Given the description of an element on the screen output the (x, y) to click on. 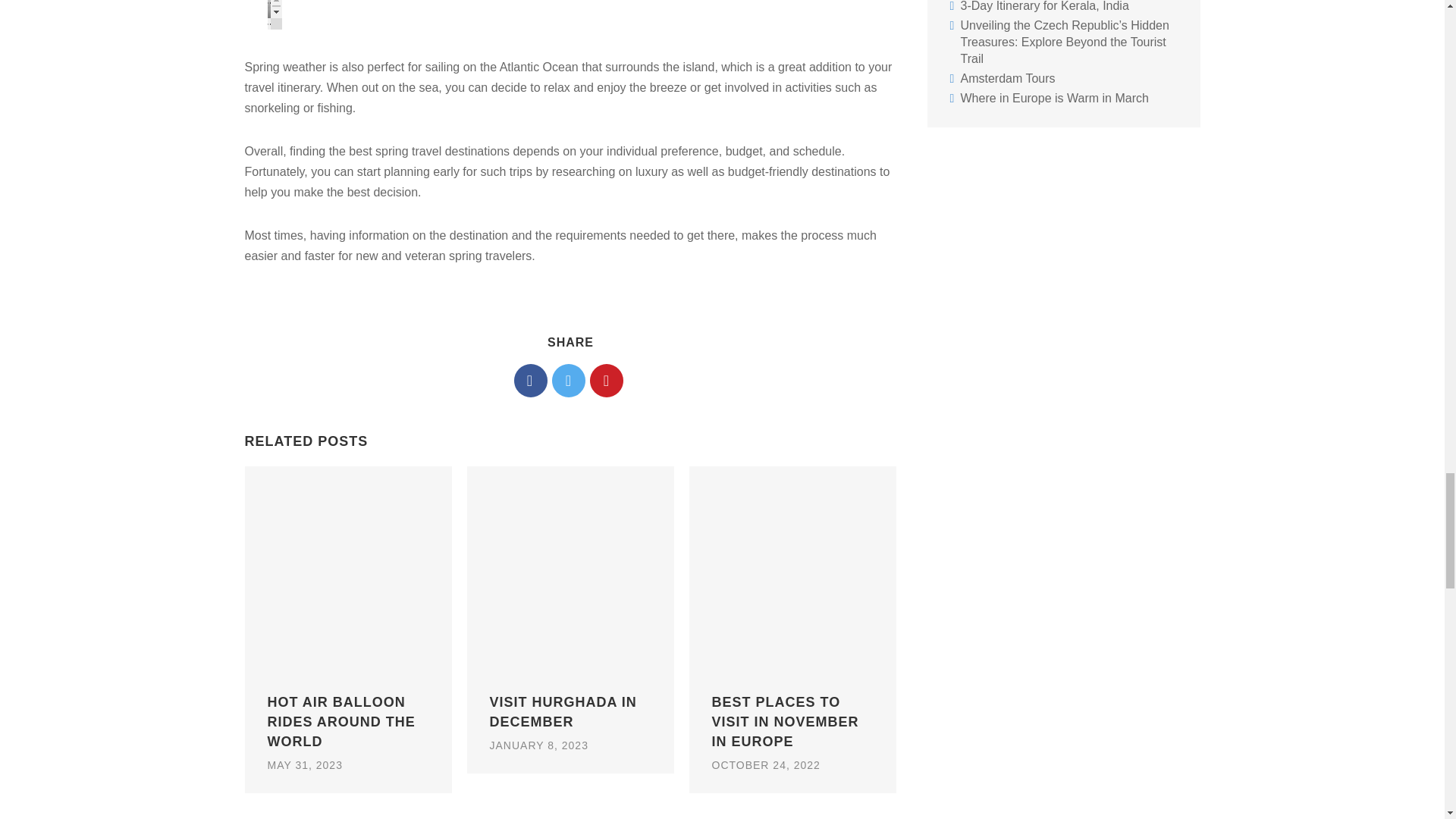
Share (530, 380)
Tweet (568, 380)
Pin It (606, 380)
